Given the description of an element on the screen output the (x, y) to click on. 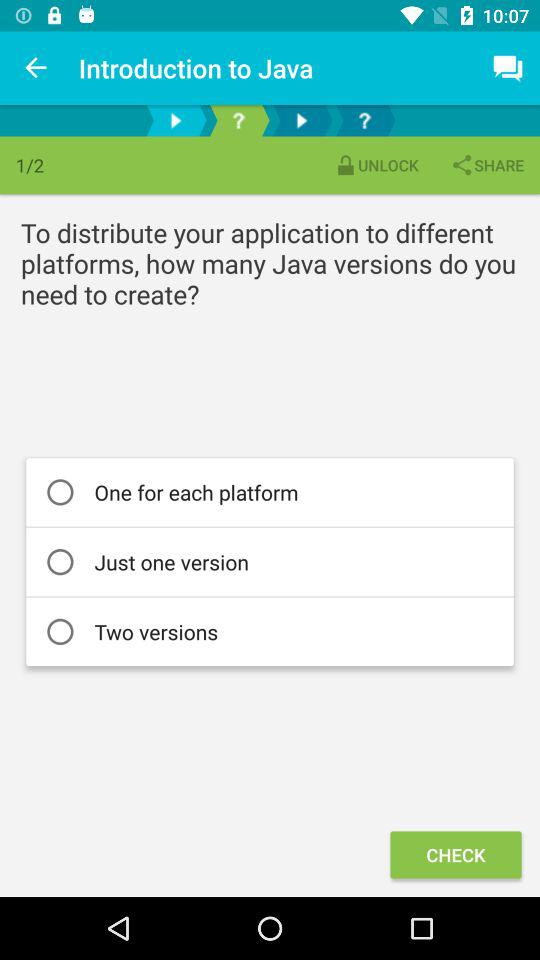
tap item to the left of introduction to java (36, 68)
